Given the description of an element on the screen output the (x, y) to click on. 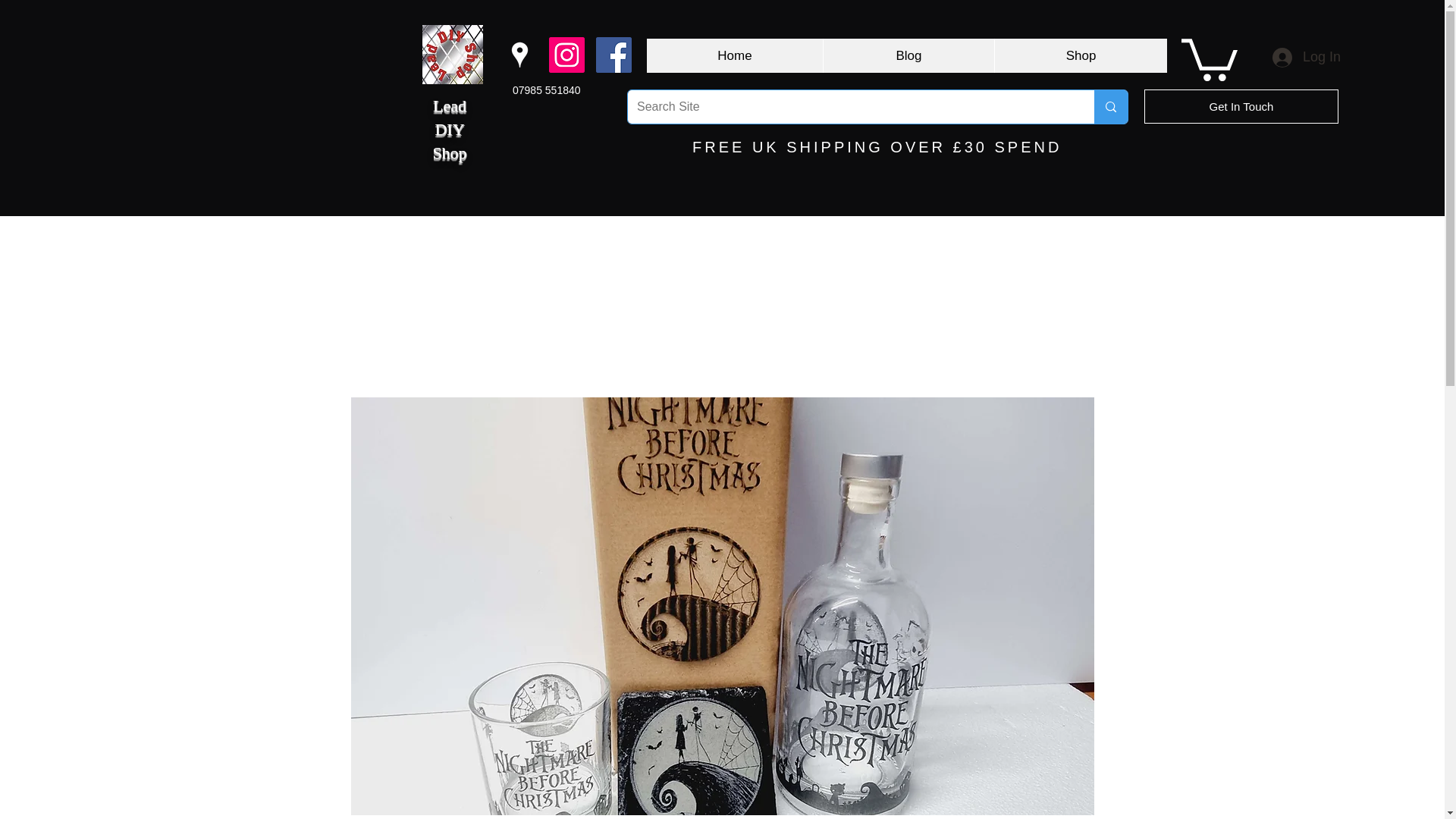
Blog (908, 55)
Shop (1080, 55)
Home (734, 55)
Log In (1306, 57)
Shop (448, 152)
DIY (448, 128)
Lead (448, 105)
Get In Touch (1241, 106)
